Given the description of an element on the screen output the (x, y) to click on. 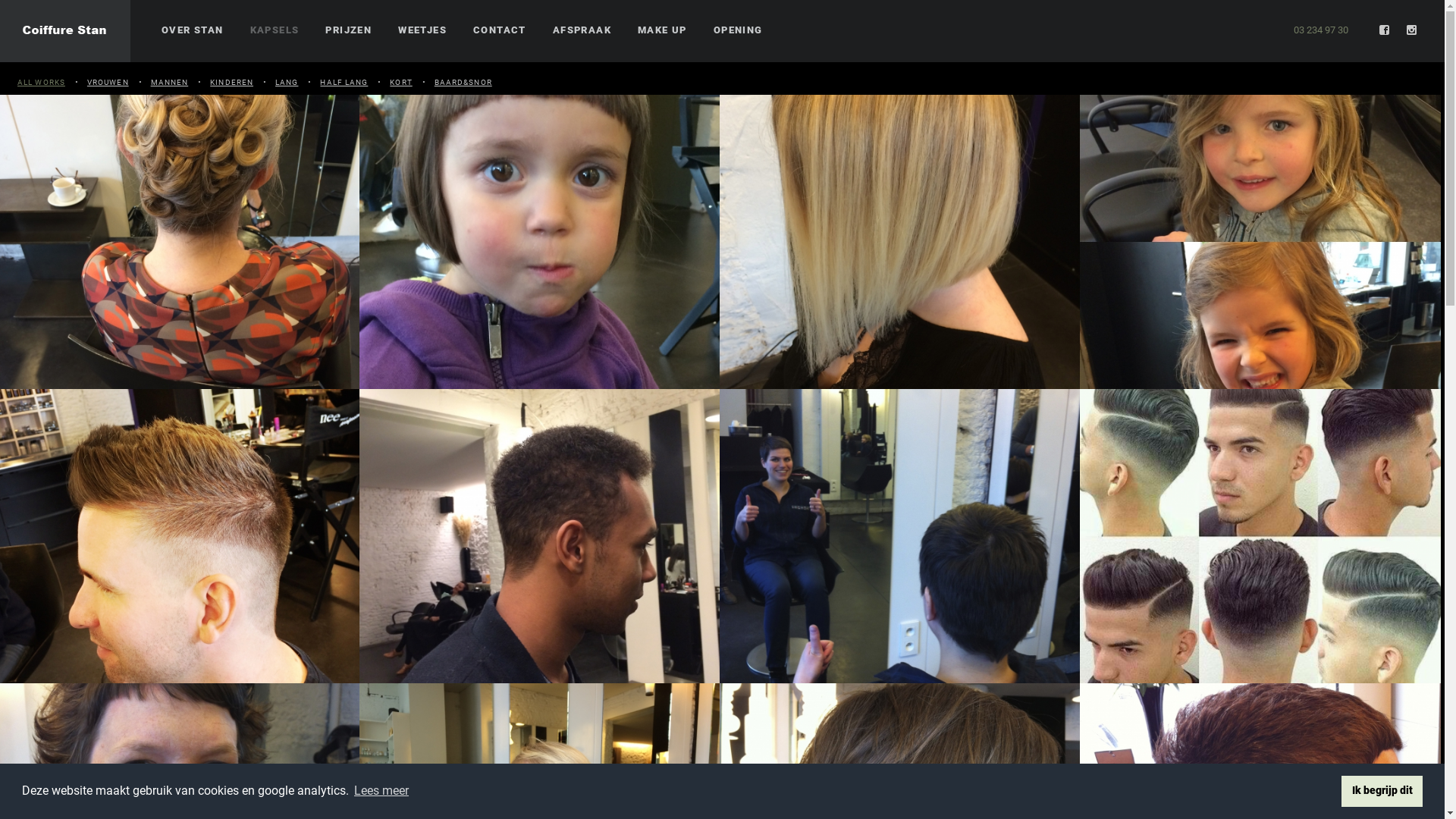
VROUWEN Element type: text (107, 82)
MANNEN Element type: text (169, 82)
Instagram Element type: hover (1411, 29)
BAARD&SNOR Element type: text (463, 82)
PRIJZEN Element type: text (348, 30)
Lees meer Element type: text (381, 790)
Ik begrijp dit Element type: text (1381, 790)
Home Element type: hover (65, 31)
WEETJES Element type: text (422, 30)
KAPSELS Element type: text (274, 30)
KINDEREN Element type: text (231, 82)
AFSPRAAK Element type: text (581, 30)
KORT Element type: text (400, 82)
03 234 97 30 Element type: text (1320, 29)
CONTACT Element type: text (499, 30)
HALF LANG Element type: text (343, 82)
ALL WORKS Element type: text (41, 82)
LANG Element type: text (286, 82)
MAKE UP Element type: text (662, 30)
OVER STAN Element type: text (192, 30)
Facebook Element type: hover (1384, 29)
OPENING Element type: text (737, 30)
